Given the description of an element on the screen output the (x, y) to click on. 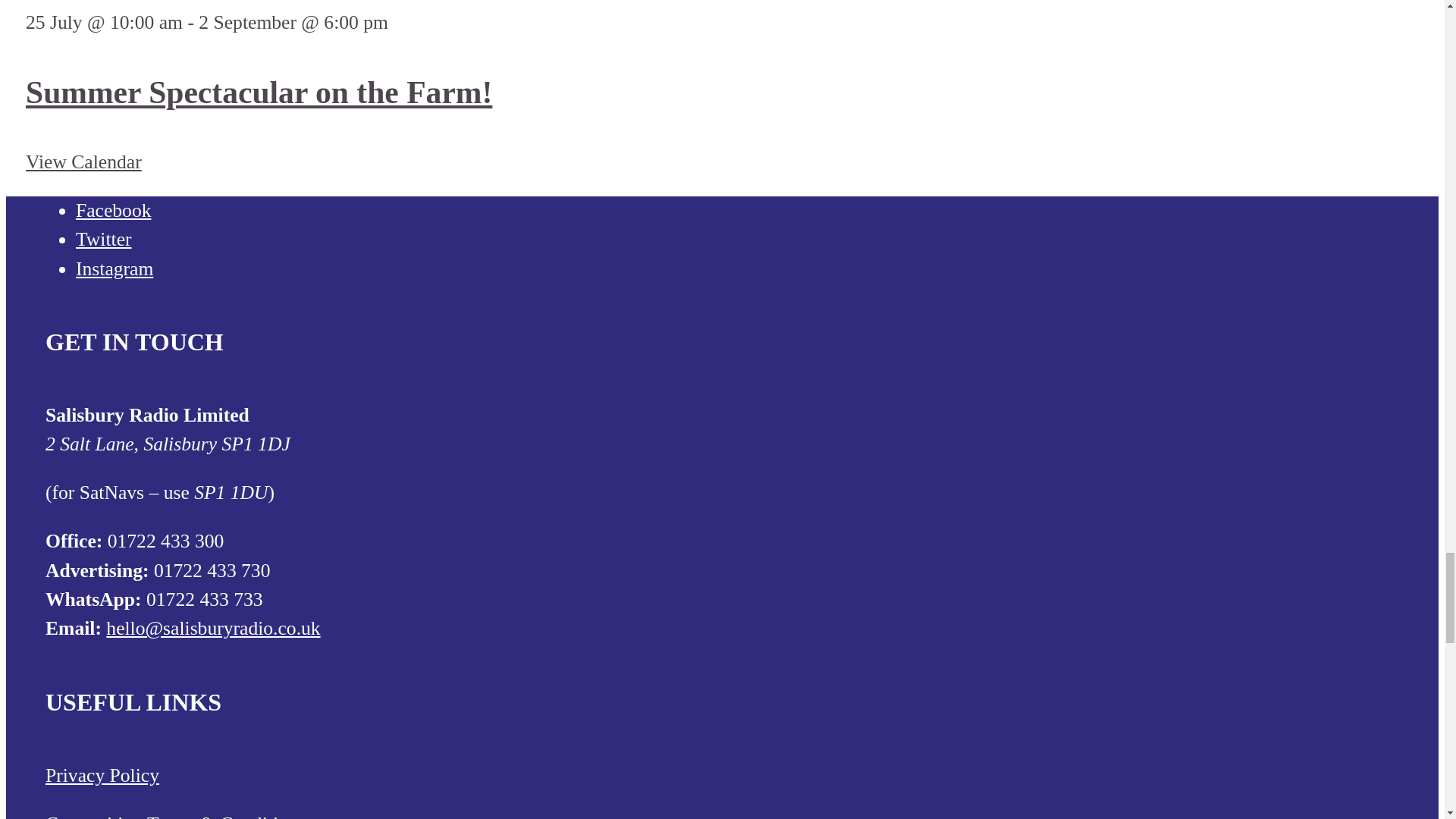
Summer Spectacular on the Farm! (259, 92)
View more events. (83, 161)
